Given the description of an element on the screen output the (x, y) to click on. 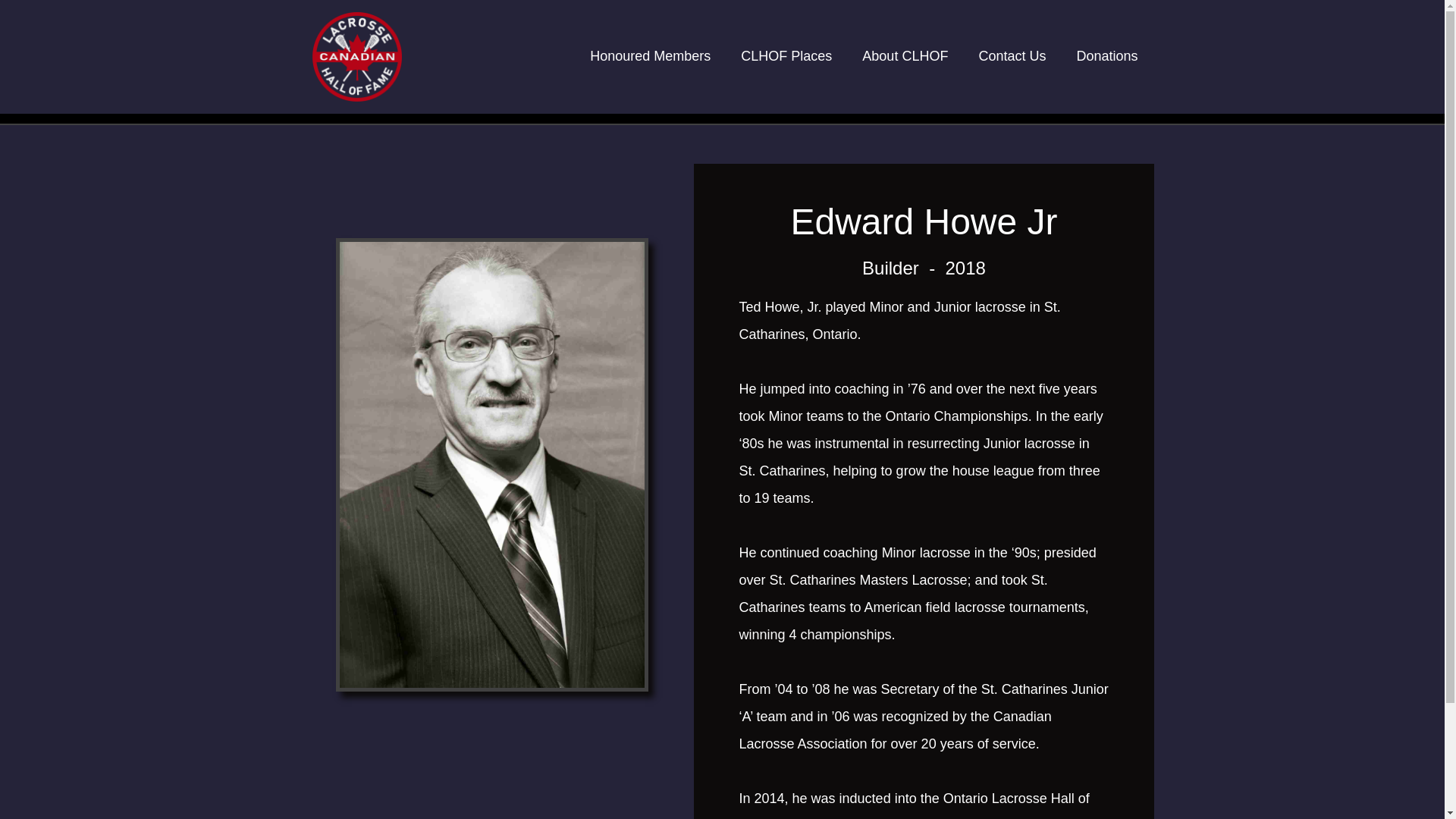
Contact Us (1011, 55)
Donations (1107, 55)
CLHOF Places (786, 55)
About CLHOF (904, 55)
Honoured Members (650, 55)
